Given the description of an element on the screen output the (x, y) to click on. 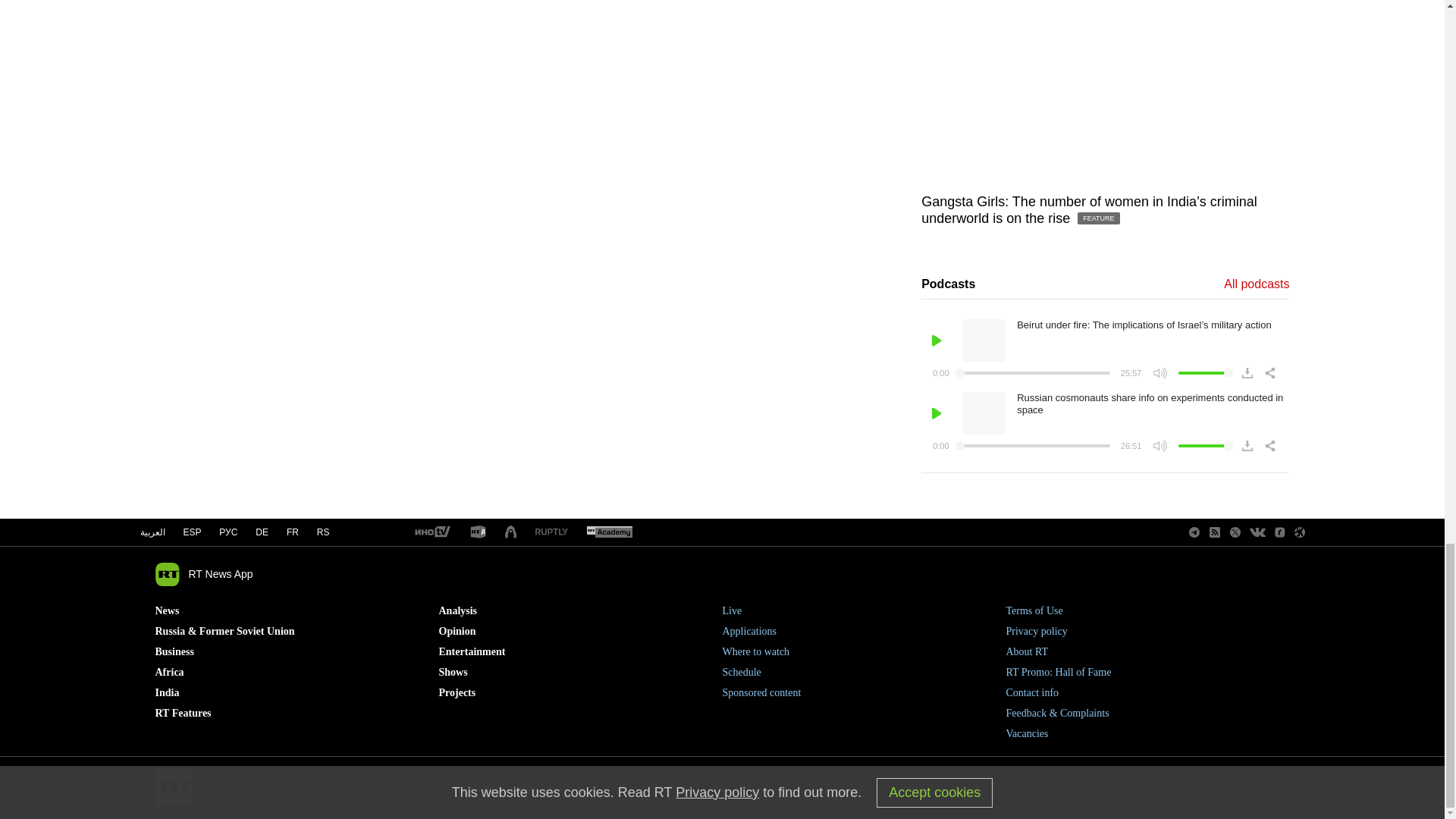
RT  (478, 532)
RT  (431, 532)
RT  (551, 532)
RT  (608, 532)
